Given the description of an element on the screen output the (x, y) to click on. 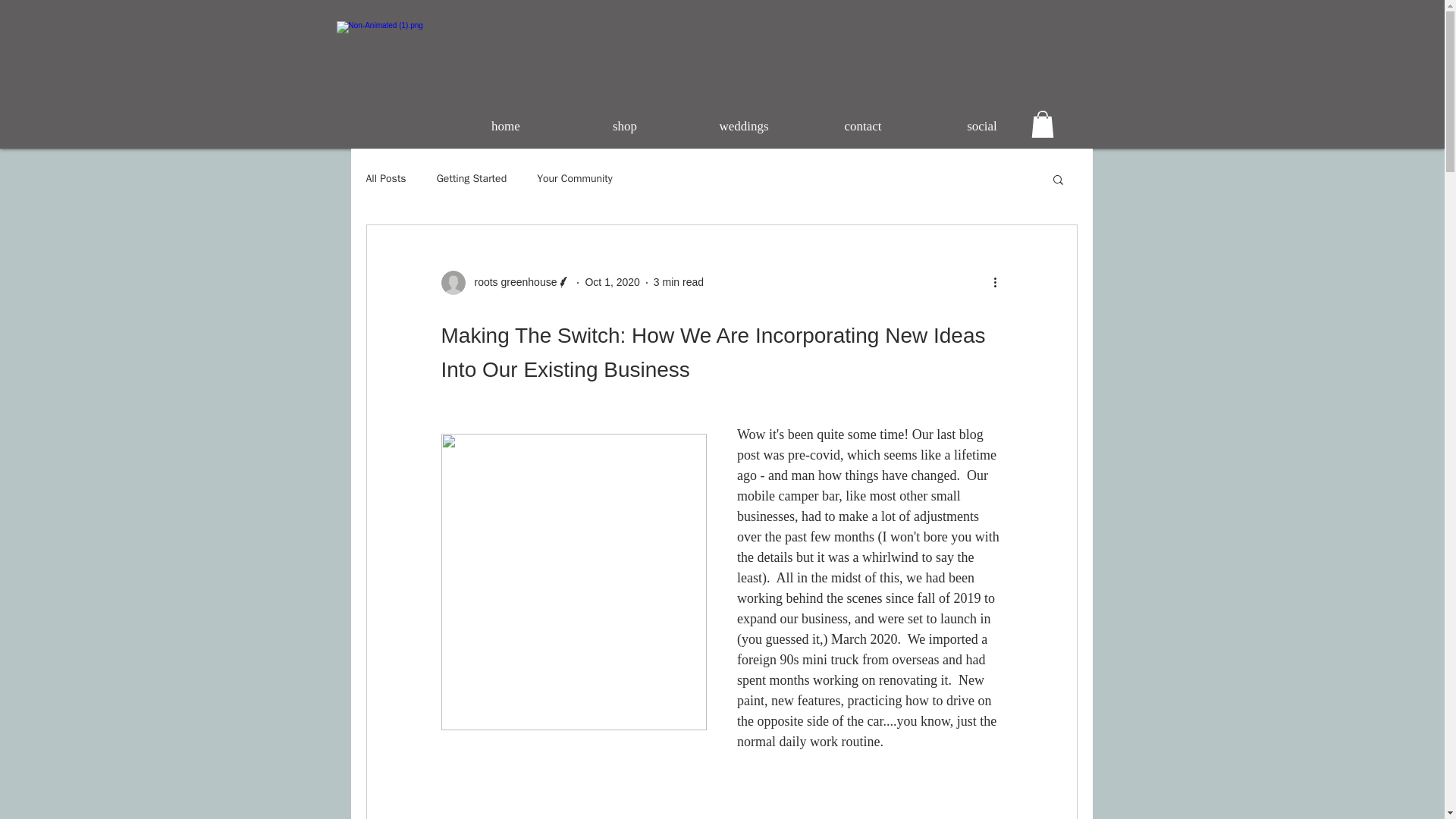
home (504, 119)
Getting Started (471, 178)
contact (863, 119)
roots greenhouse (511, 282)
roots greenhouse (506, 282)
weddings (743, 119)
3 min read (678, 282)
Your Community (574, 178)
Oct 1, 2020 (612, 282)
social (981, 119)
